Given the description of an element on the screen output the (x, y) to click on. 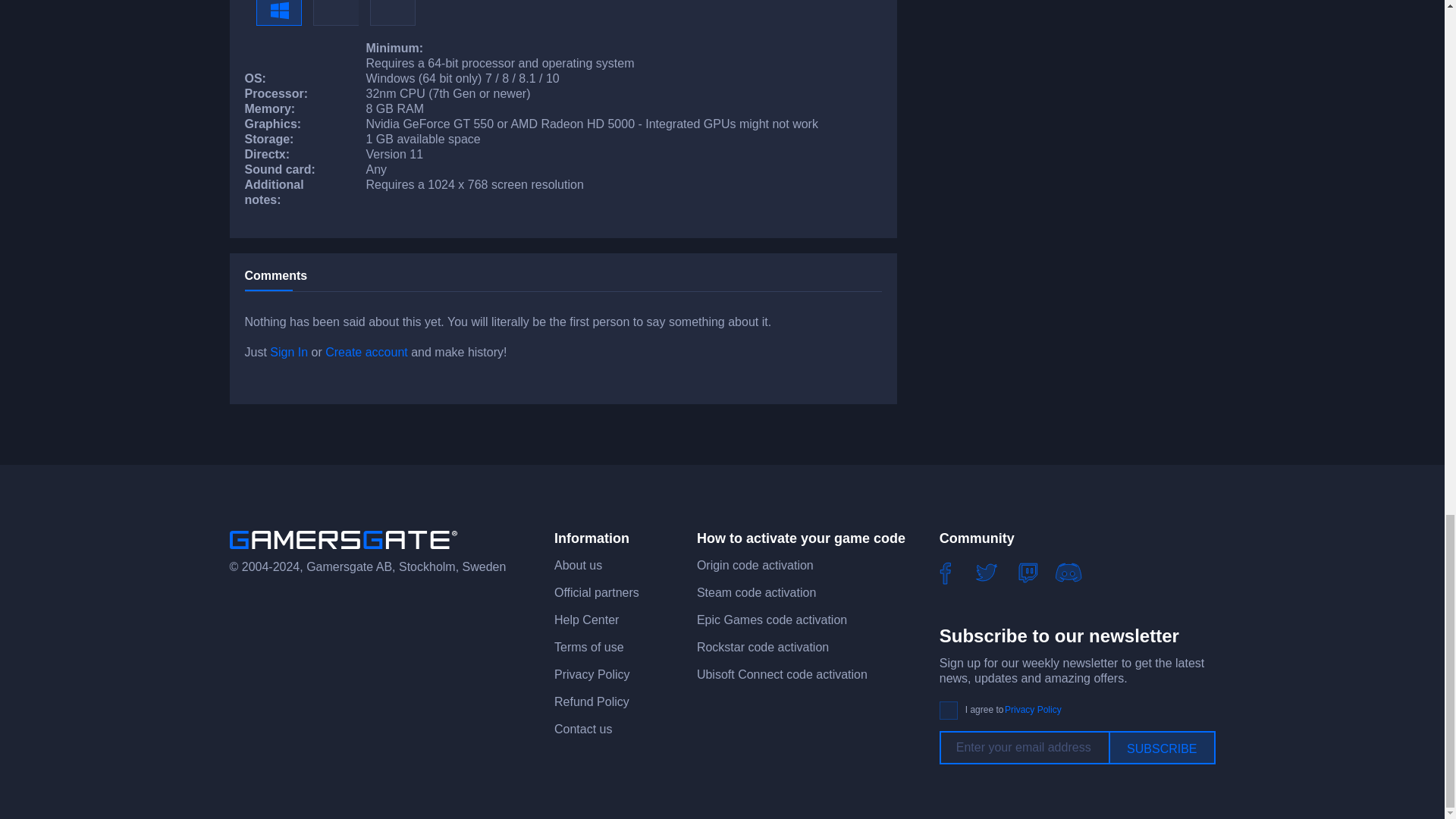
Create account (365, 351)
Terms of use (589, 646)
Official partners (596, 592)
About us (578, 564)
Subscribe (1161, 747)
Help Center (586, 619)
Privacy Policy (592, 674)
Sign In (288, 351)
Refund Policy (591, 701)
